Given the description of an element on the screen output the (x, y) to click on. 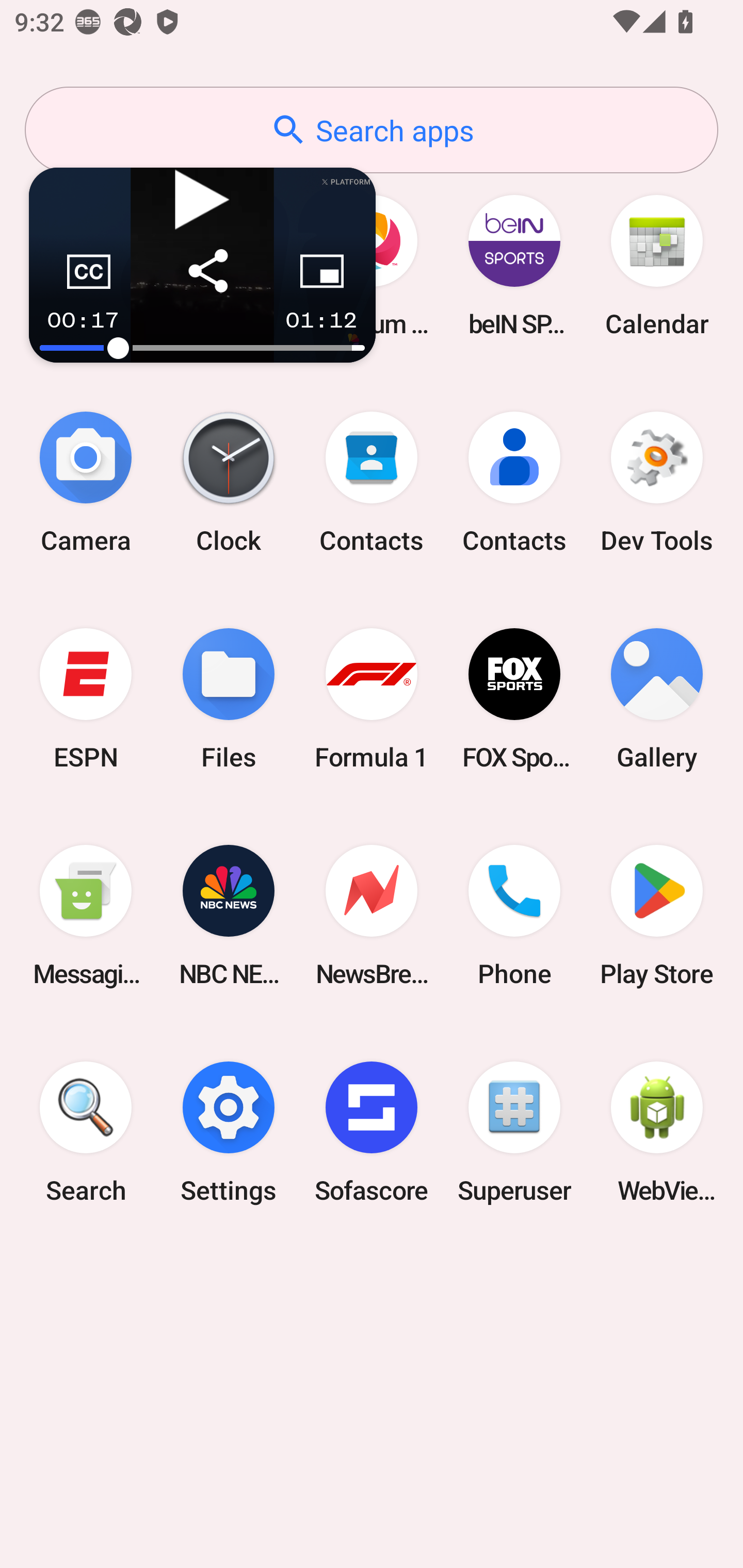
  Search apps (371, 130)
beIN SPORTS (514, 264)
Calendar (656, 264)
Camera (85, 482)
Clock (228, 482)
Contacts (371, 482)
Contacts (514, 482)
Dev Tools (656, 482)
ESPN (85, 699)
Files (228, 699)
Formula 1 (371, 699)
FOX Sports (514, 699)
Gallery (656, 699)
Messaging (85, 915)
NBC NEWS (228, 915)
NewsBreak (371, 915)
Phone (514, 915)
Play Store (656, 915)
Search (85, 1131)
Settings (228, 1131)
Sofascore (371, 1131)
Superuser (514, 1131)
WebView Browser Tester (656, 1131)
